Given the description of an element on the screen output the (x, y) to click on. 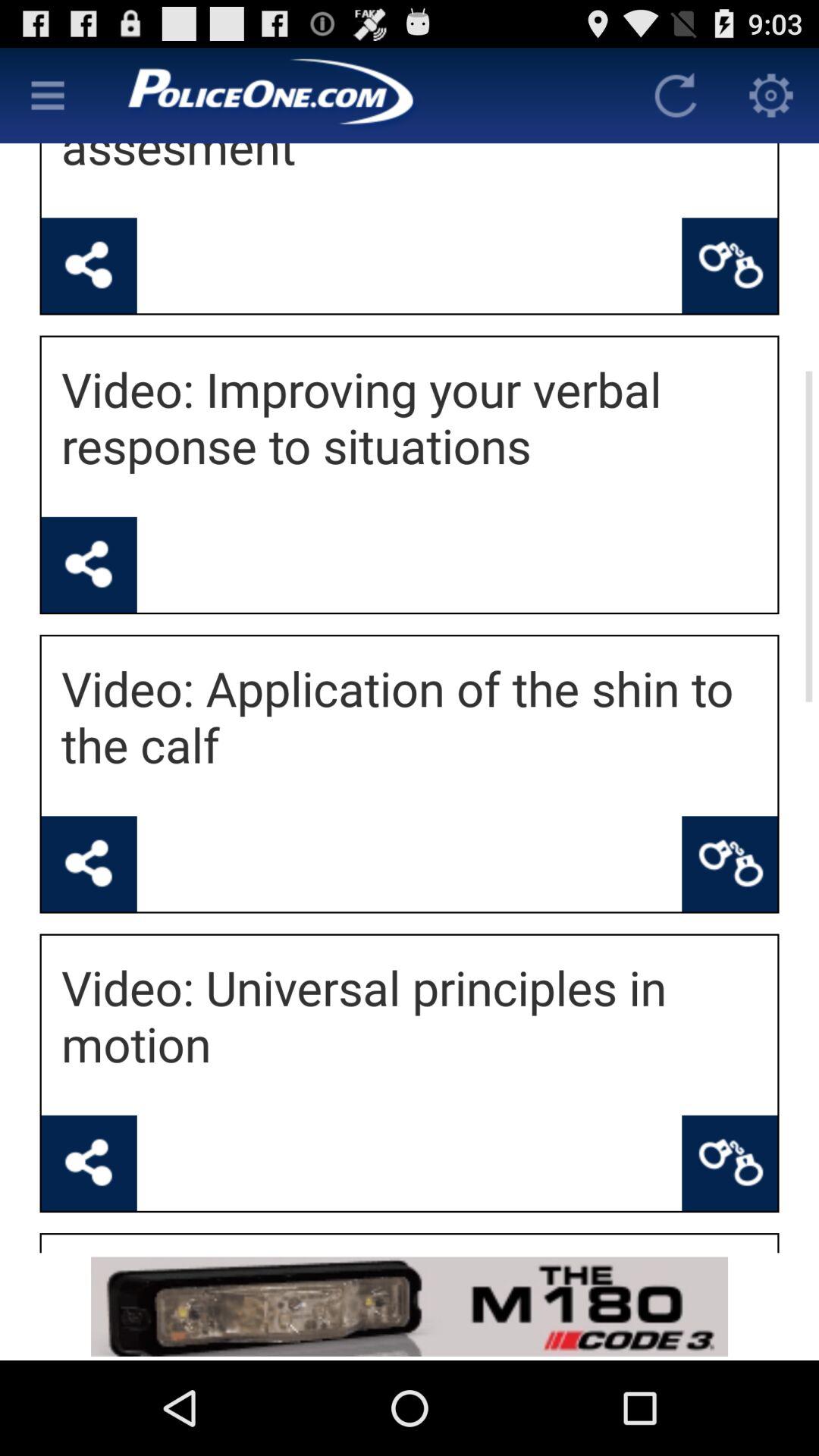
share (89, 863)
